Given the description of an element on the screen output the (x, y) to click on. 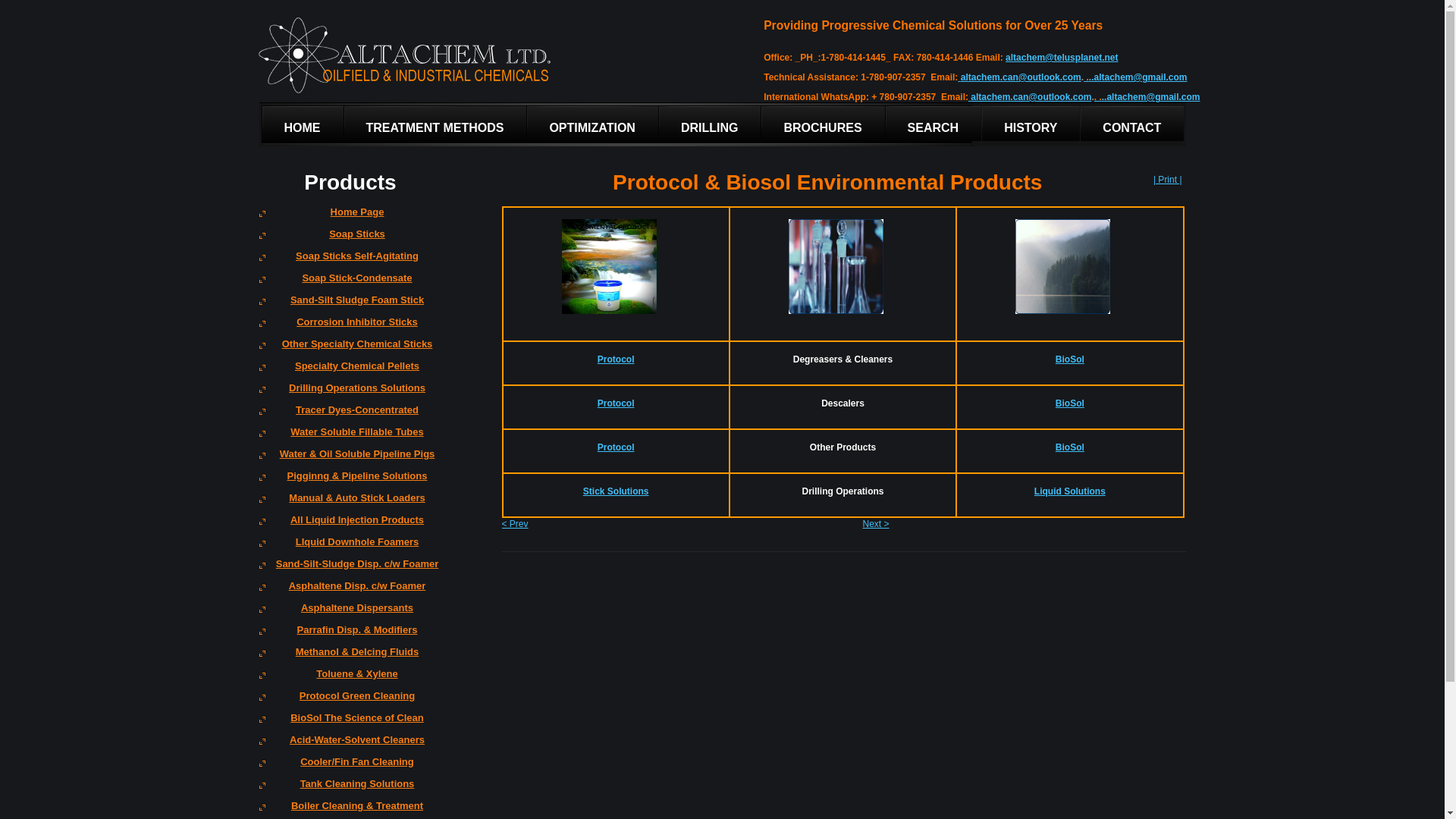
BROCHURES Element type: text (822, 124)
Stick Solutions Element type: text (616, 491)
OPTIMIZATION Element type: text (592, 124)
Specialty Chemical Pellets Element type: text (350, 371)
BioSol Element type: text (1069, 447)
Tank Cleaning Solutions Element type: text (350, 789)
Protocol Element type: text (615, 447)
Tracer Dyes-Concentrated Element type: text (350, 415)
..altachem@gmail.com Element type: text (1137, 77)
Pigginng & Pipeline Solutions Element type: text (350, 481)
Protocol Element type: text (615, 403)
..altachem@gmail.com Element type: text (1150, 96)
CONTACT Element type: text (1131, 124)
altachem@telusplanet.net Element type: text (1061, 57)
Sand-Silt Sludge Foam Stick Element type: text (350, 305)
SEARCH Element type: text (933, 124)
Parrafin Disp. & Modifiers Element type: text (350, 635)
Soap Sticks Element type: text (350, 239)
Corrosion Inhibitor Sticks Element type: text (350, 327)
Cooler/Fin Fan Cleaning Element type: text (350, 767)
Other Specialty Chemical Sticks Element type: text (350, 349)
All Liquid Injection Products Element type: text (350, 525)
HOME Element type: text (302, 124)
Water & Oil Soluble Pipeline Pigs Element type: text (350, 459)
< Prev Element type: text (515, 523)
Manual & Auto Stick Loaders Element type: text (350, 503)
. Element type: text (1085, 77)
Protocol Element type: text (615, 359)
Toluene & Xylene Element type: text (350, 679)
Water Soluble Fillable Tubes Element type: text (350, 437)
altachem.can@outlook.com Element type: text (1030, 96)
HISTORY Element type: text (1030, 124)
Sand-Silt-Sludge Disp. c/w Foamer Element type: text (350, 569)
BioSol The Science of Clean Element type: text (350, 723)
Drilling Operations Solutions Element type: text (350, 393)
Methanol & DeIcing Fluids Element type: text (350, 657)
Liquid Solutions Element type: text (1069, 491)
Protocol Green Cleaning Element type: text (350, 701)
BioSol Element type: text (1069, 403)
Acid-Water-Solvent Cleaners Element type: text (350, 745)
Soap Sticks Self-Agitating Element type: text (350, 261)
. . Element type: text (1097, 96)
Home Page Element type: text (350, 217)
altachem.can@outlook.com Element type: text (1020, 77)
DRILLING Element type: text (709, 124)
Soap Stick-Condensate Element type: text (350, 283)
| Print | Element type: text (1167, 179)
TREATMENT METHODS Element type: text (435, 124)
Asphaltene Dispersants Element type: text (350, 613)
LIquid Downhole Foamers Element type: text (350, 547)
Asphaltene Disp. c/w Foamer Element type: text (350, 591)
BioSol Element type: text (1069, 359)
Next > Element type: text (875, 523)
